Given the description of an element on the screen output the (x, y) to click on. 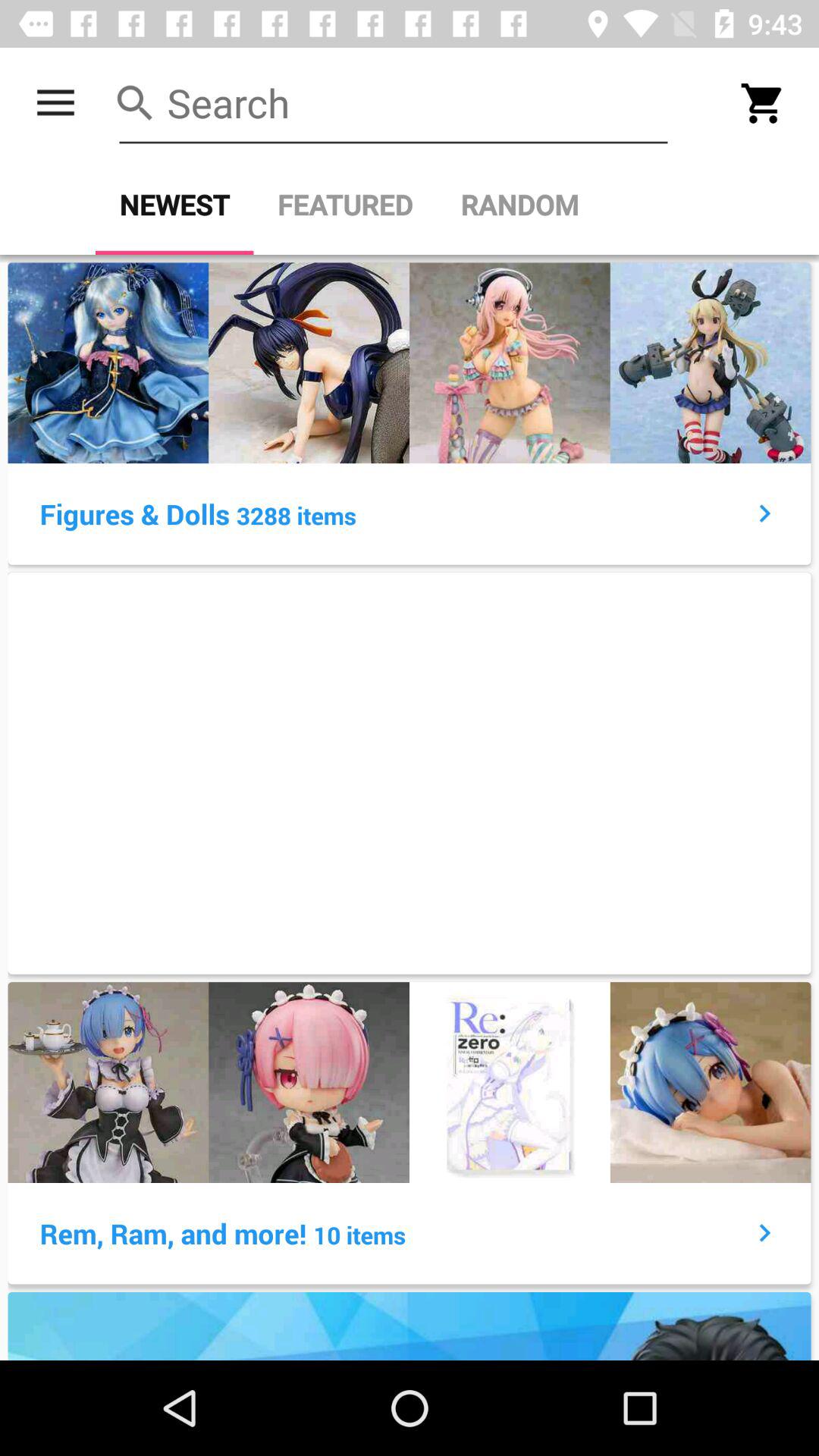
turn off item next to newest (344, 204)
